Given the description of an element on the screen output the (x, y) to click on. 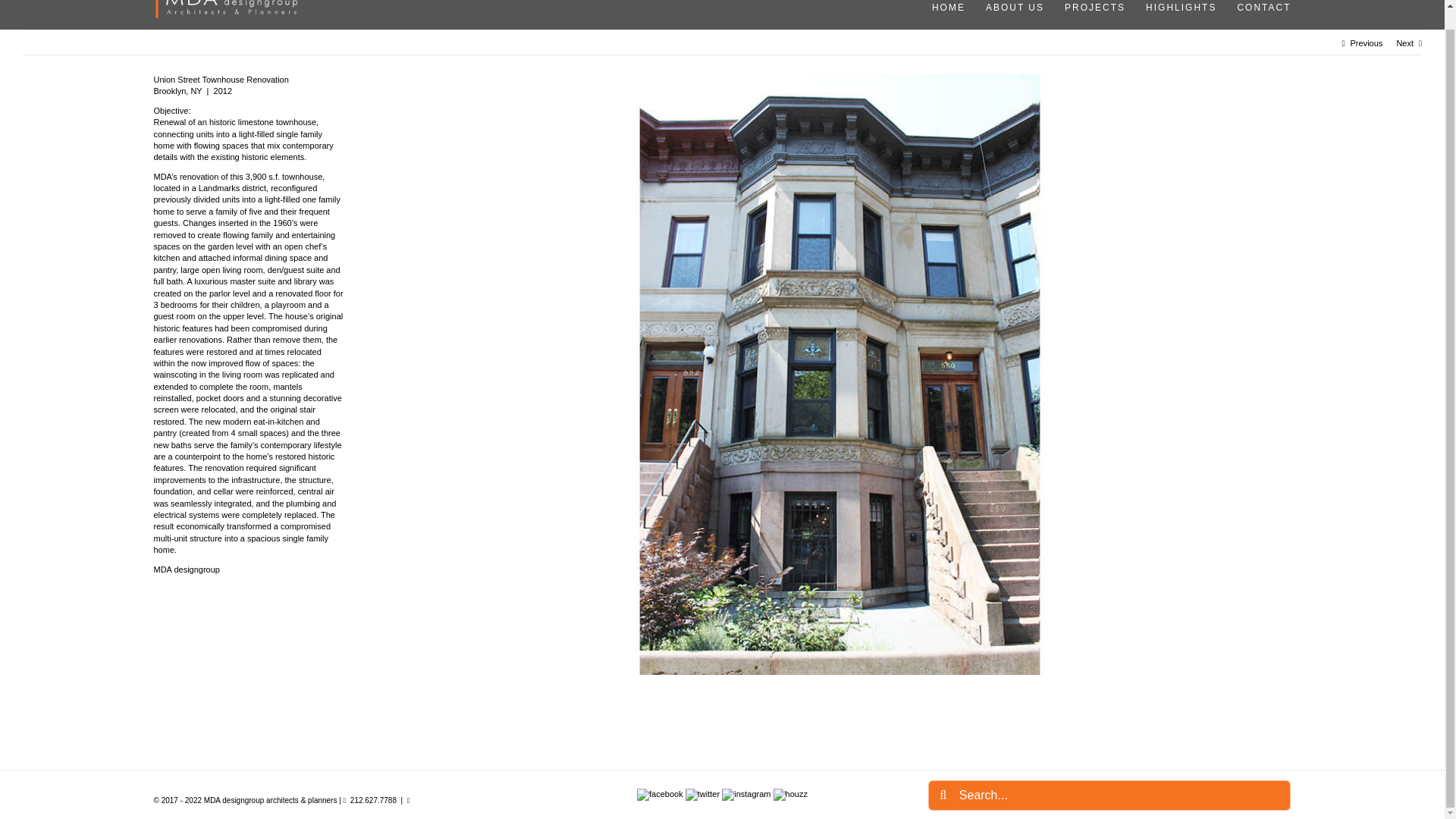
PROJECTS (1089, 7)
HIGHLIGHTS (1175, 7)
ABOUT US (1009, 7)
CONTACT (1258, 7)
Previous (1367, 43)
HOME (943, 7)
